Given the description of an element on the screen output the (x, y) to click on. 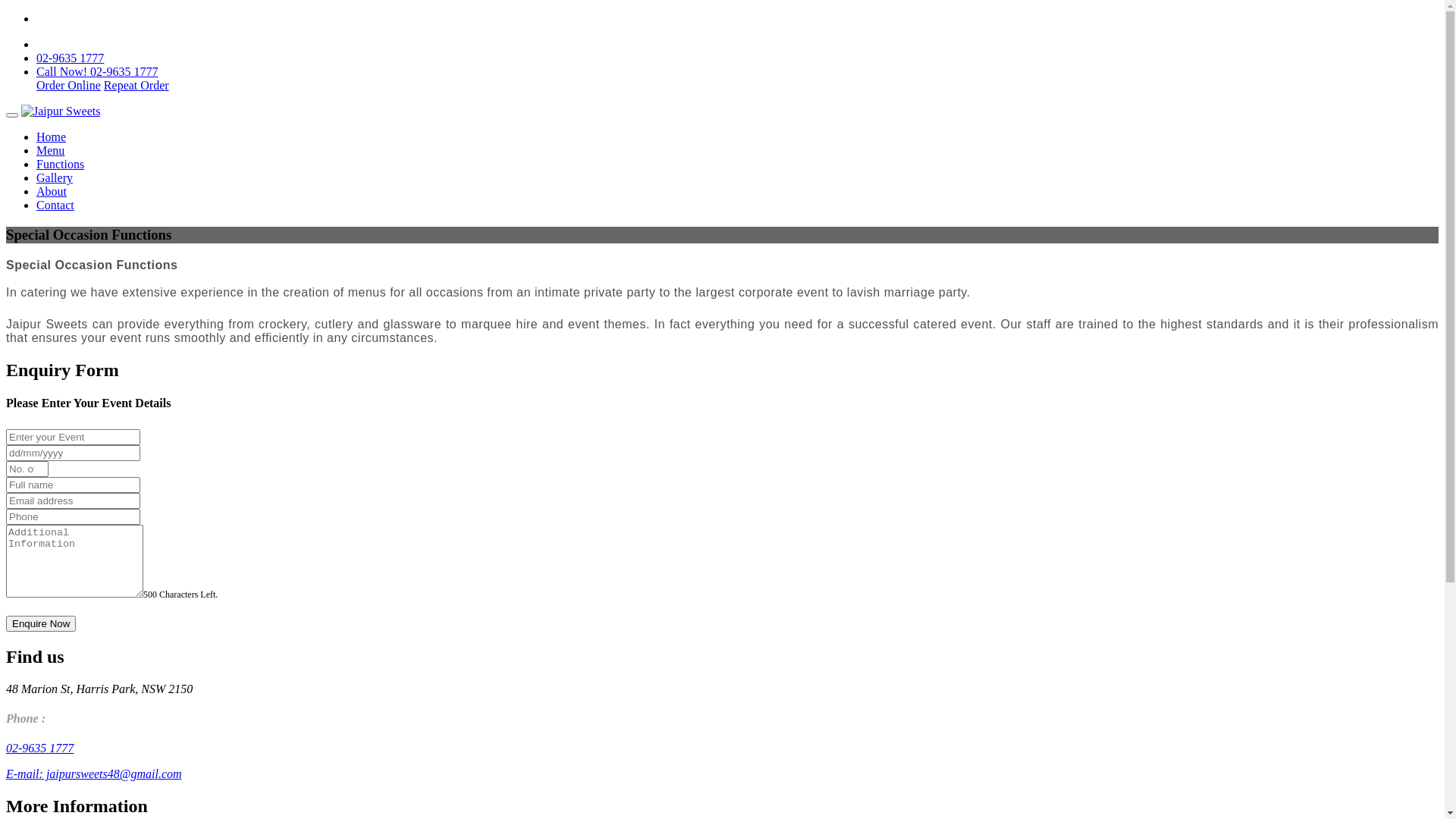
Call Now! 02-9635 1777 Element type: text (96, 71)
Order Online Element type: text (68, 84)
02-9635 1777 Element type: text (39, 747)
Gallery Element type: text (54, 177)
Repeat Order Element type: text (136, 84)
About Element type: text (51, 191)
Menu Element type: text (50, 150)
Contact Element type: text (55, 204)
Enquire Now Element type: text (40, 623)
Home Element type: text (50, 136)
02-9635 1777 Element type: text (69, 57)
E-mail: jaipursweets48@gmail.com Element type: text (94, 773)
Functions Element type: text (60, 163)
